Given the description of an element on the screen output the (x, y) to click on. 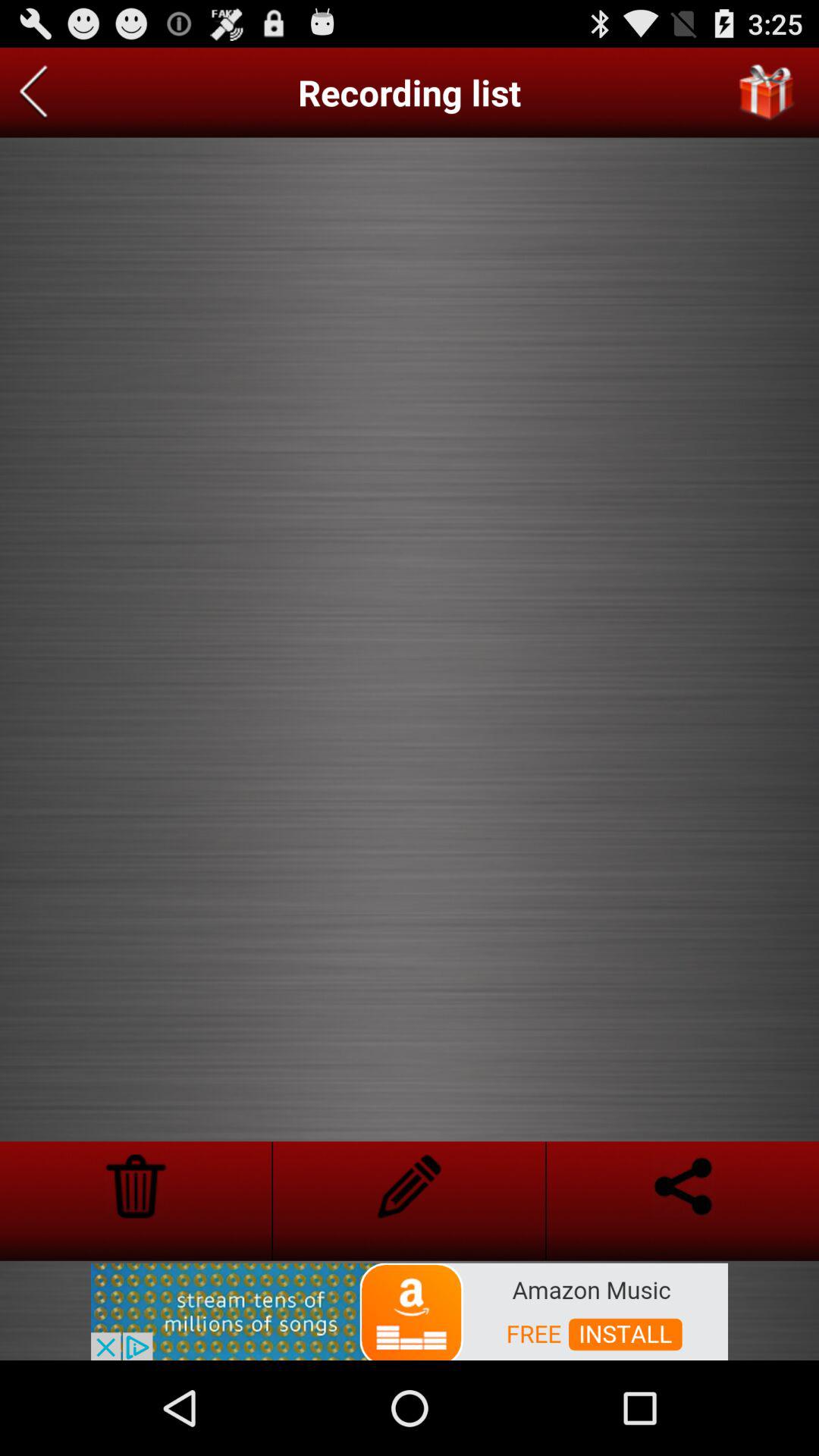
advertisement (409, 1310)
